Given the description of an element on the screen output the (x, y) to click on. 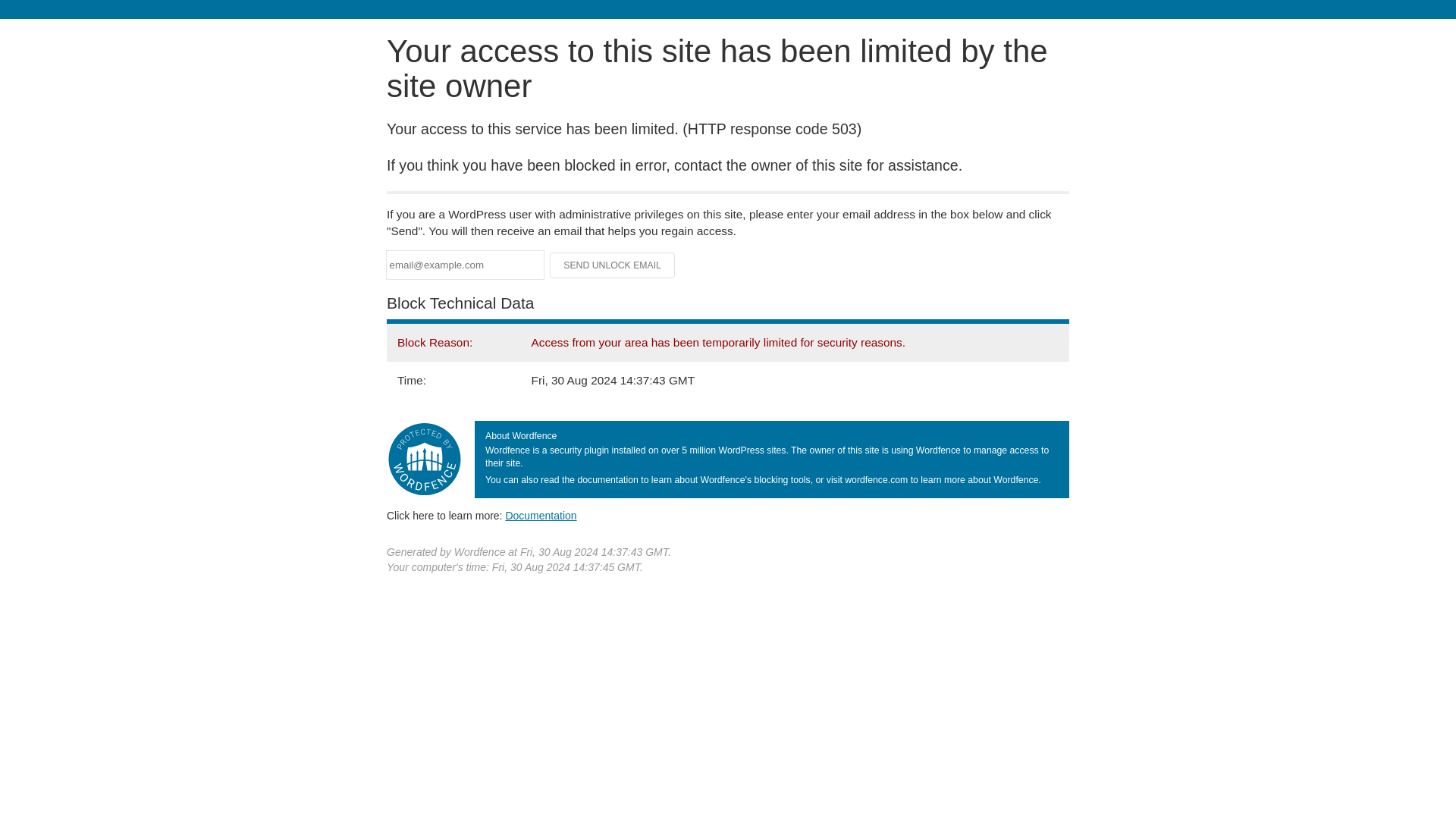
Send Unlock Email (612, 265)
Send Unlock Email (612, 265)
Documentation (540, 515)
